Given the description of an element on the screen output the (x, y) to click on. 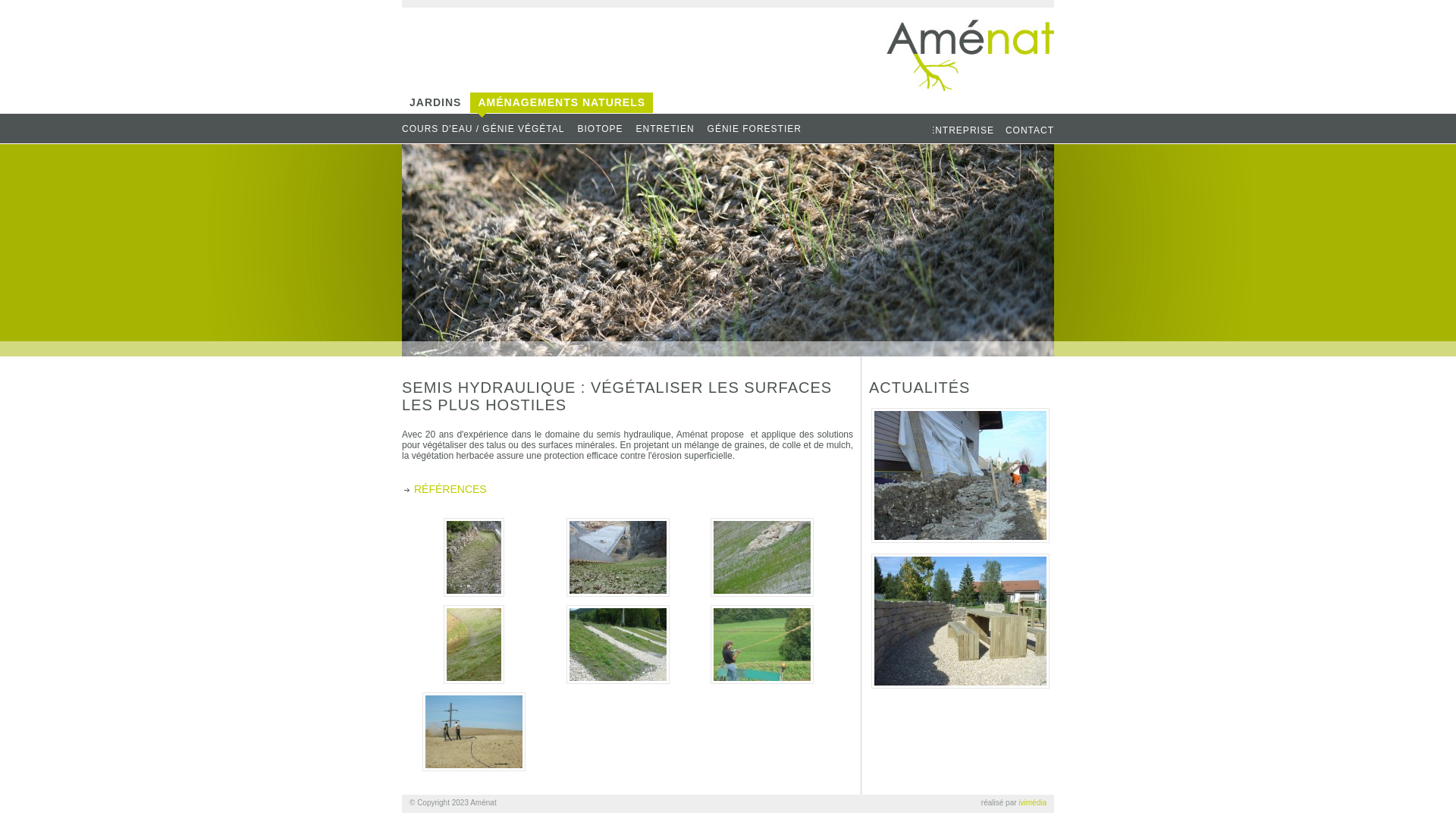
SEMIS HYDRAULIQUE Element type: text (461, 147)
ENTREPRISE Element type: text (961, 130)
CONTACT Element type: text (1029, 130)
BIOTOPE Element type: text (605, 128)
ENTRETIEN Element type: text (671, 128)
JARDINS Element type: text (434, 107)
